Given the description of an element on the screen output the (x, y) to click on. 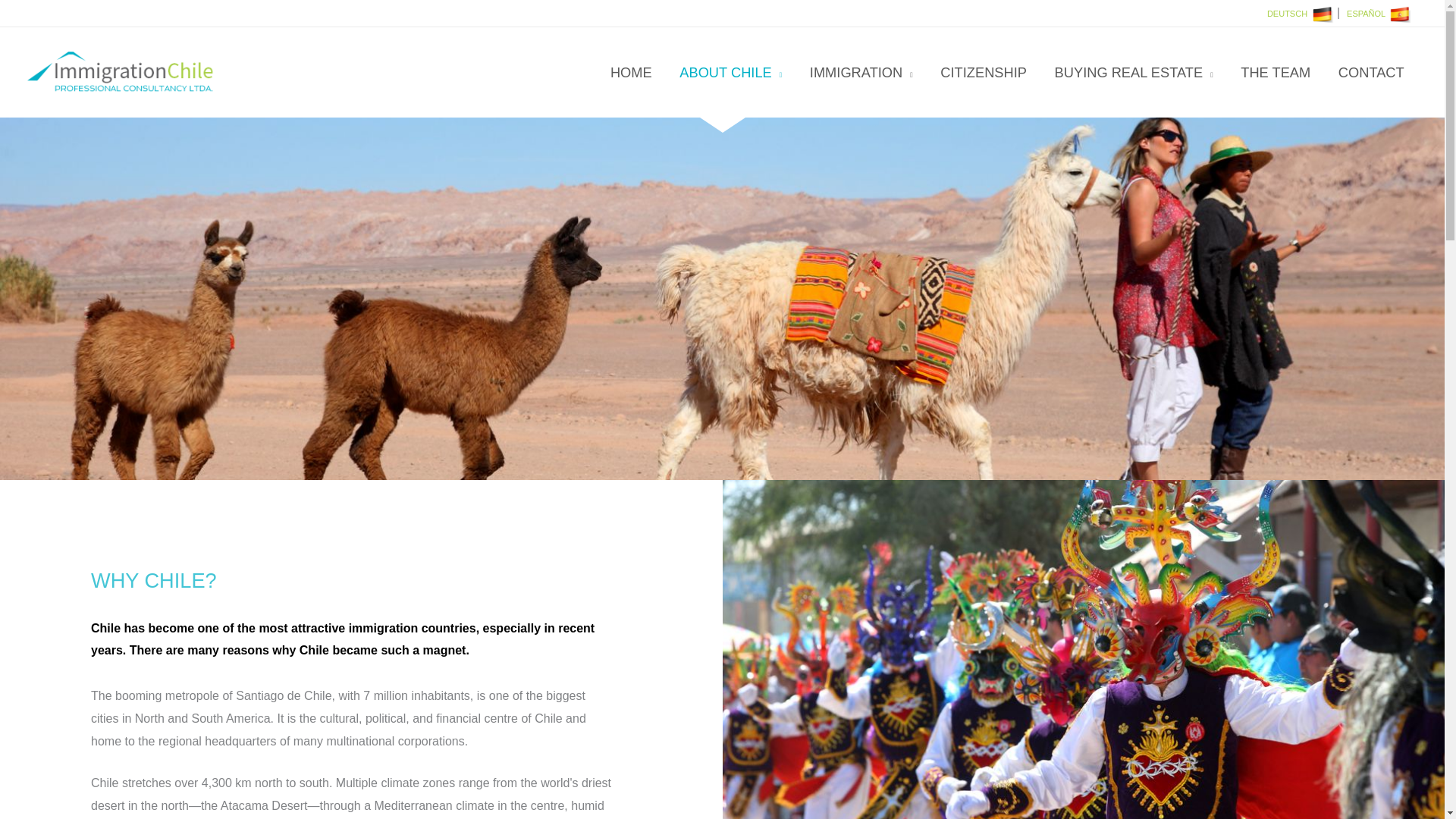
THE TEAM (1275, 72)
CITIZENSHIP (983, 72)
HOME (630, 72)
DEUTSCH (1286, 13)
ABOUT CHILE (730, 72)
CONTACT (1371, 72)
BUYING REAL ESTATE (1134, 72)
IMMIGRATION (861, 72)
